Given the description of an element on the screen output the (x, y) to click on. 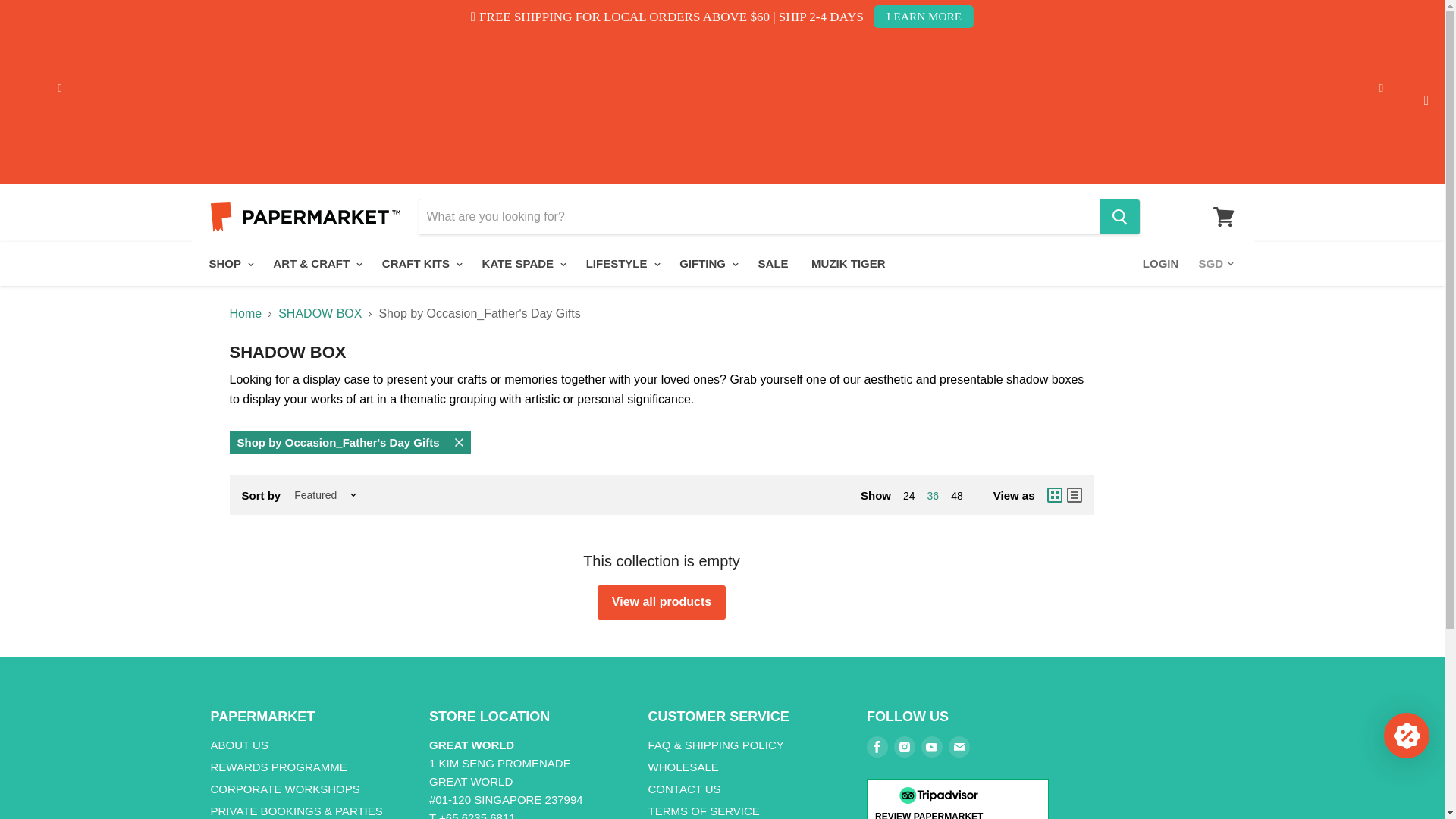
SHOP (228, 264)
Instagram (904, 746)
Facebook (877, 746)
View cart (1223, 216)
LEARN MORE (924, 15)
E-mail (958, 746)
Youtube (931, 746)
